Given the description of an element on the screen output the (x, y) to click on. 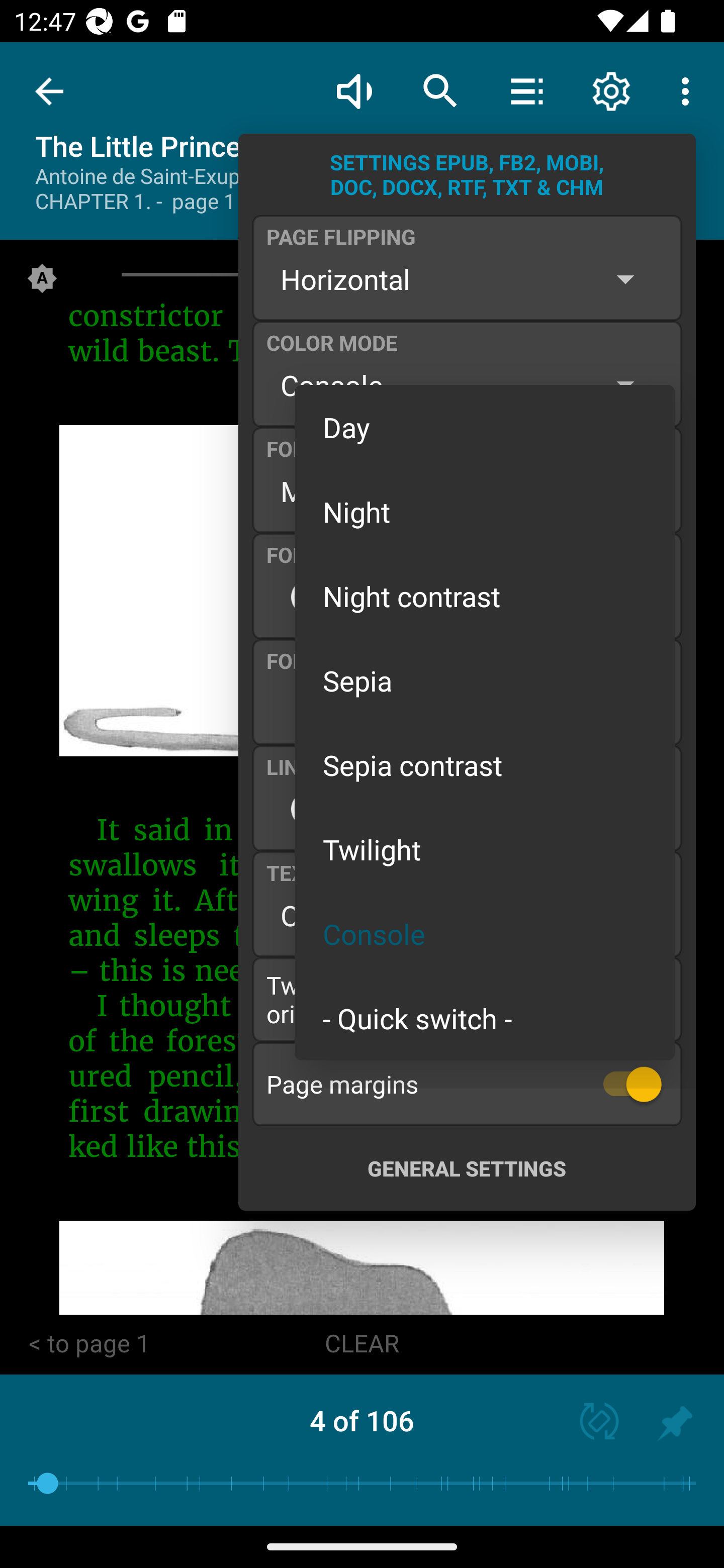
Day (484, 426)
Night (484, 510)
Night contrast (484, 595)
Sepia (484, 680)
Sepia contrast (484, 764)
Twilight (484, 849)
Console (484, 933)
- Quick switch - (484, 1017)
